Given the description of an element on the screen output the (x, y) to click on. 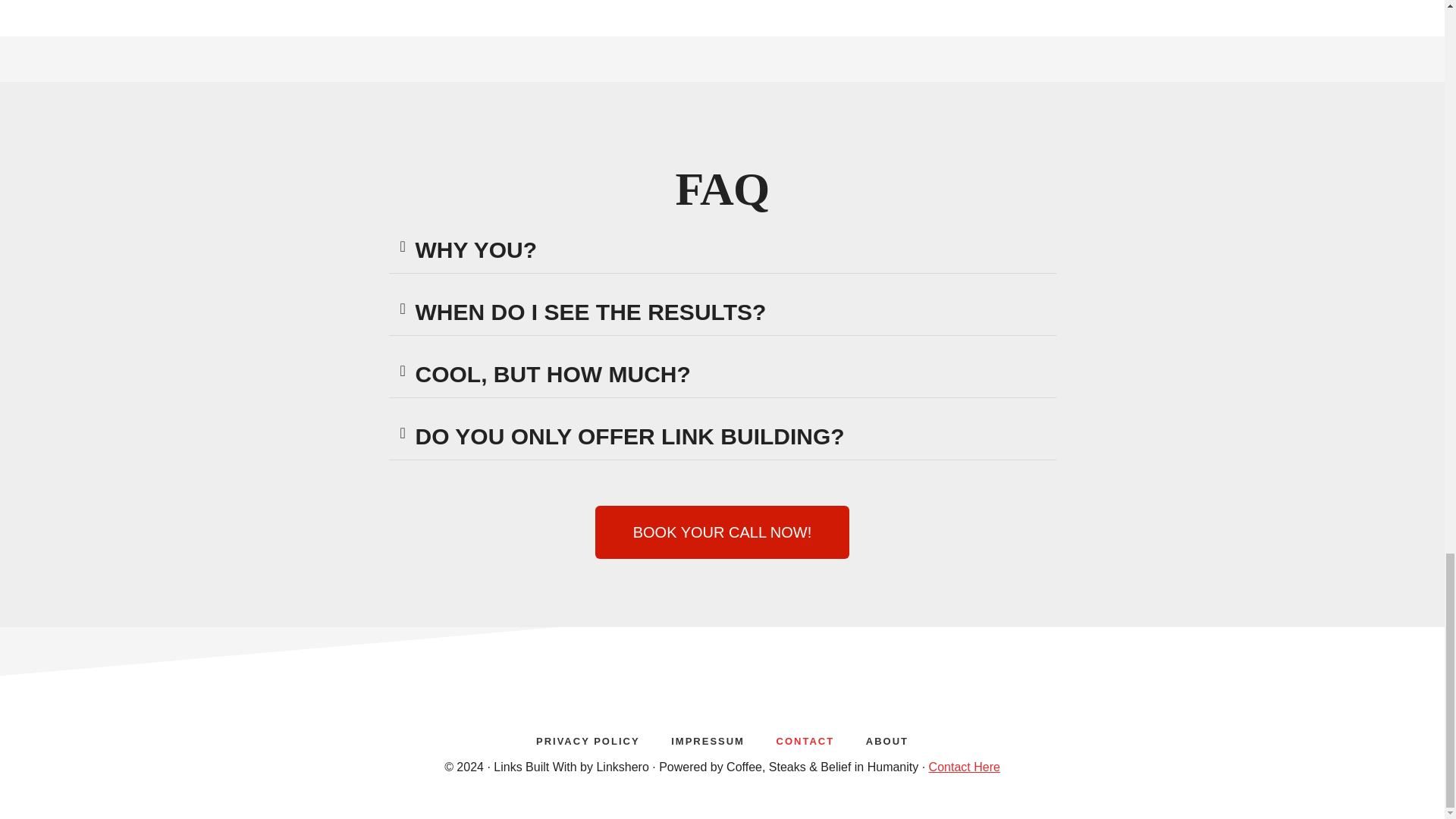
CONTACT (805, 739)
BOOK YOUR CALL NOW! (722, 532)
WHEN DO I SEE THE RESULTS? (590, 311)
PRIVACY POLICY (587, 739)
Contact Here (964, 766)
ABOUT (886, 739)
WHY YOU? (475, 249)
COOL, BUT HOW MUCH? (552, 373)
DO YOU ONLY OFFER LINK BUILDING? (629, 436)
IMPRESSUM (708, 739)
